Given the description of an element on the screen output the (x, y) to click on. 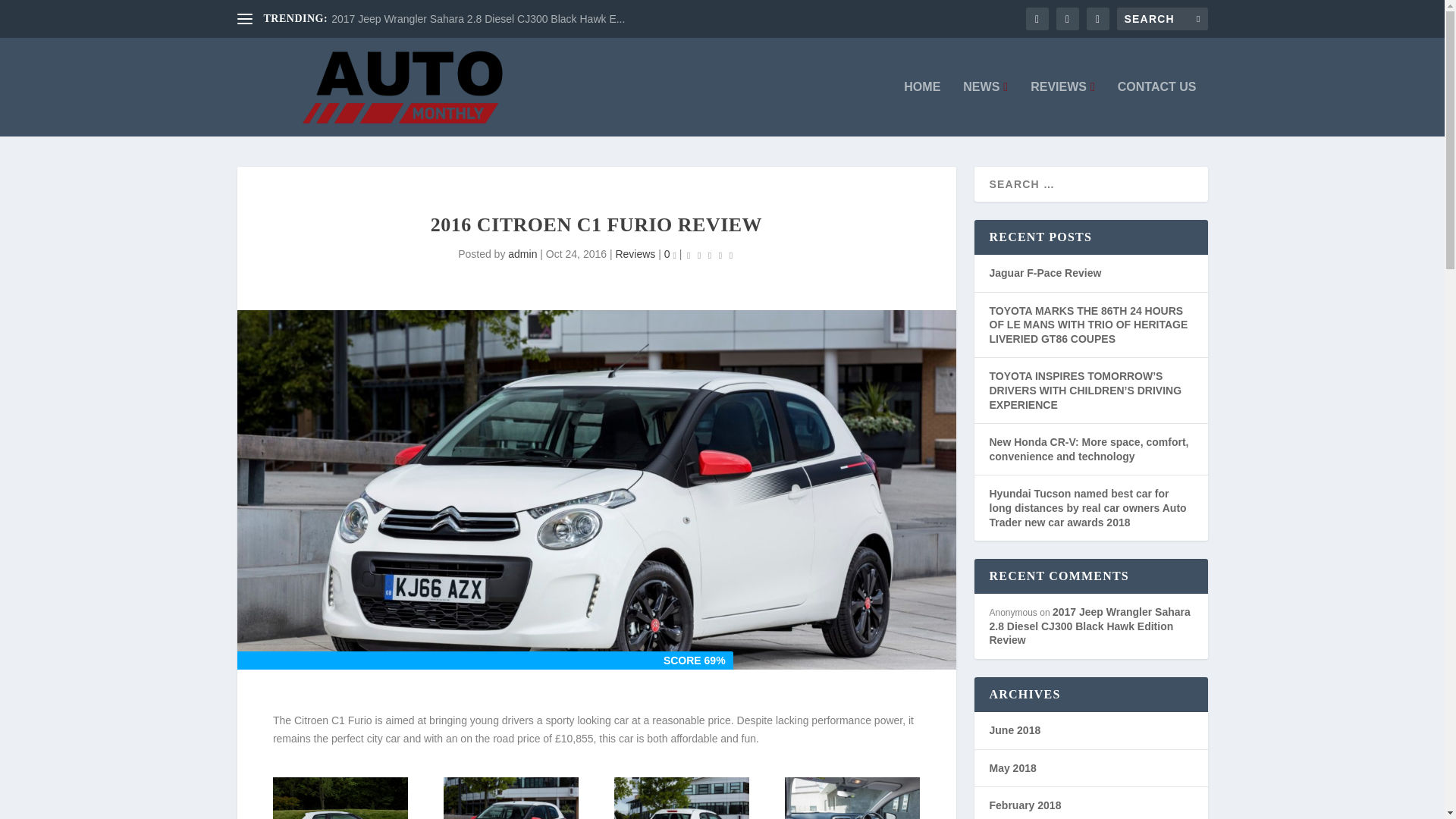
REVIEWS (1062, 108)
Search for: (1161, 18)
2017 Jeep Wrangler Sahara 2.8 Diesel CJ300 Black Hawk E... (477, 19)
